Given the description of an element on the screen output the (x, y) to click on. 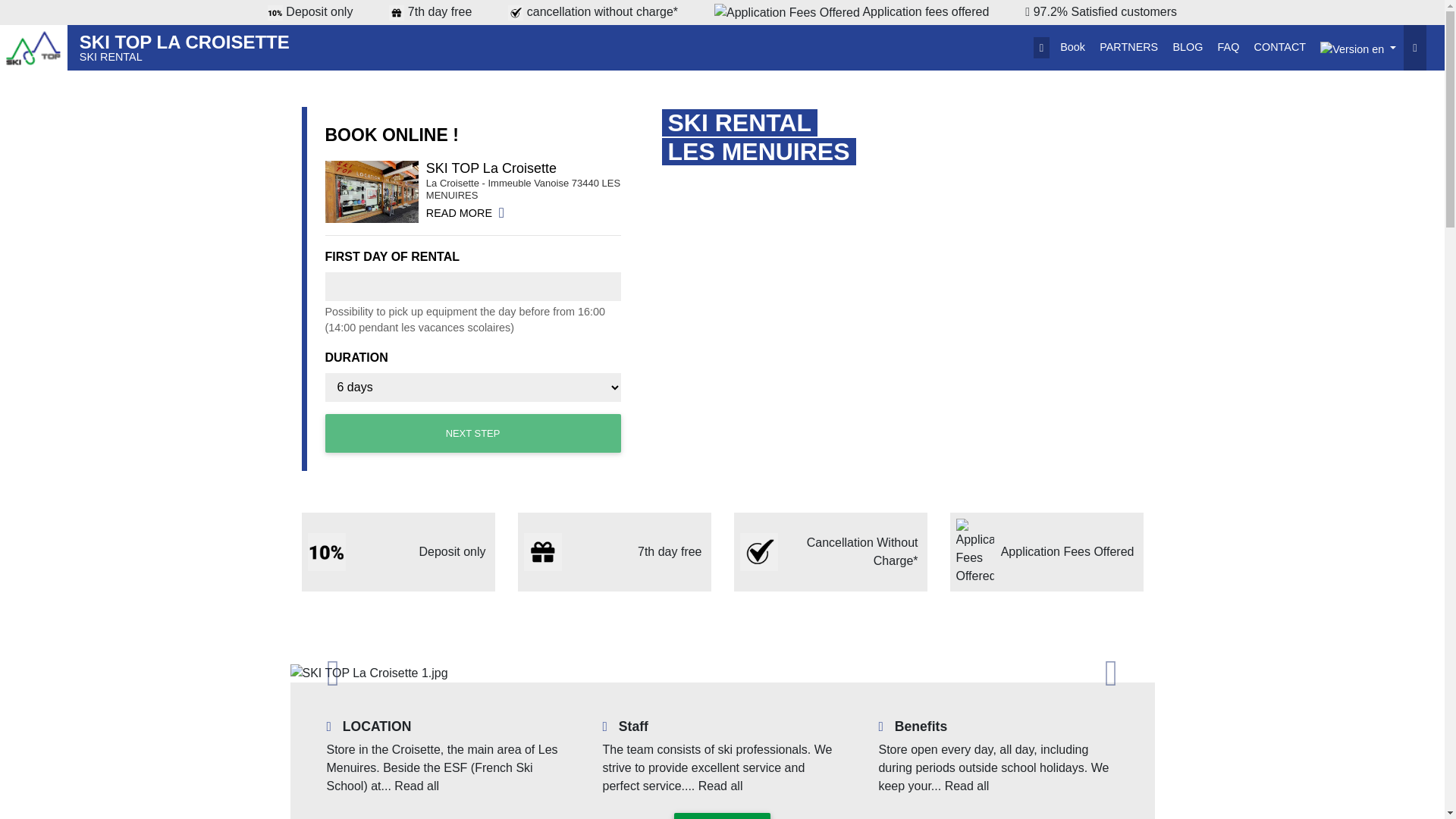
PARTNERS (1128, 47)
Book (1072, 47)
READ MORE (464, 213)
See other reviews submitted by clients (1101, 12)
Read all (416, 785)
Book step 1 - The ski shop (184, 47)
READ MORE (722, 816)
NEXT STEP (722, 816)
Staff description (472, 433)
